Given the description of an element on the screen output the (x, y) to click on. 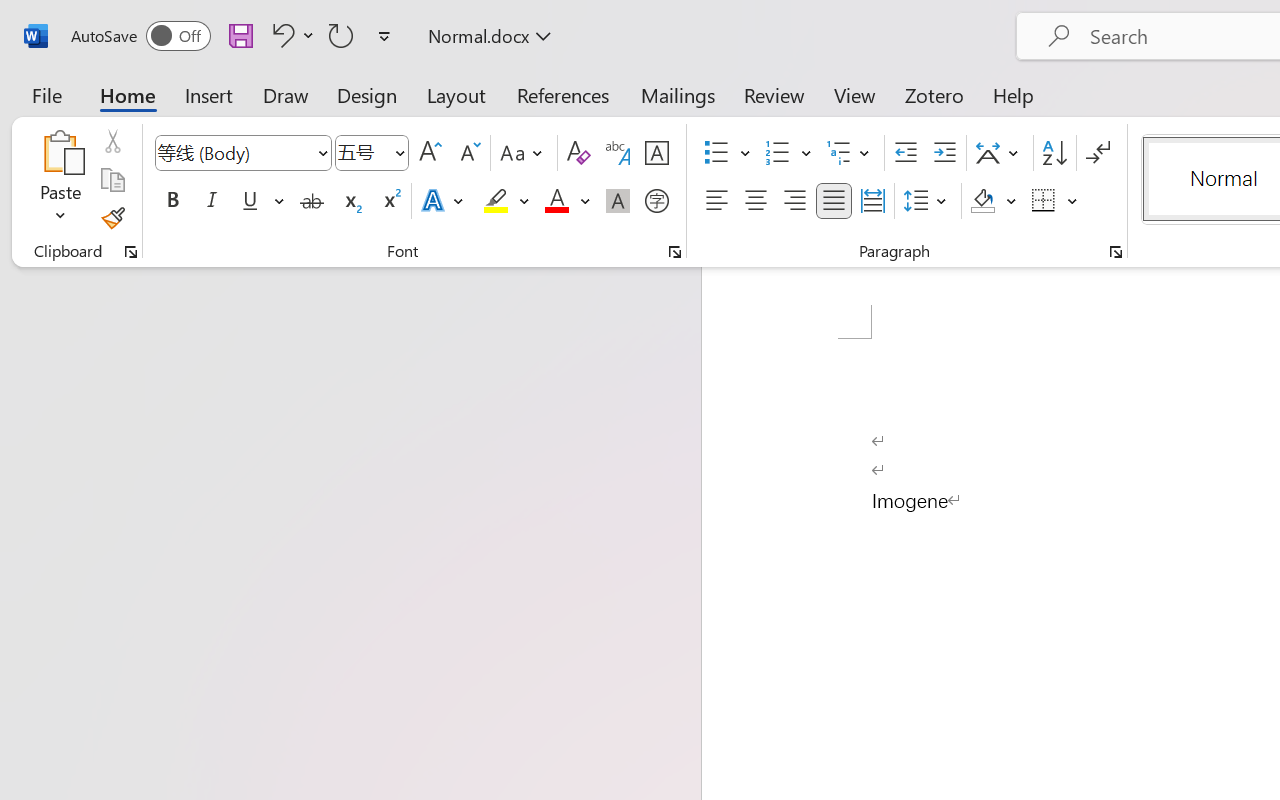
Font... (675, 252)
Text Effects and Typography (444, 201)
Shading RGB(0, 0, 0) (982, 201)
Font Color RGB(255, 0, 0) (556, 201)
Superscript (390, 201)
Cut (112, 141)
Grow Font (430, 153)
Character Border (656, 153)
Multilevel List (850, 153)
Undo Style (280, 35)
